Given the description of an element on the screen output the (x, y) to click on. 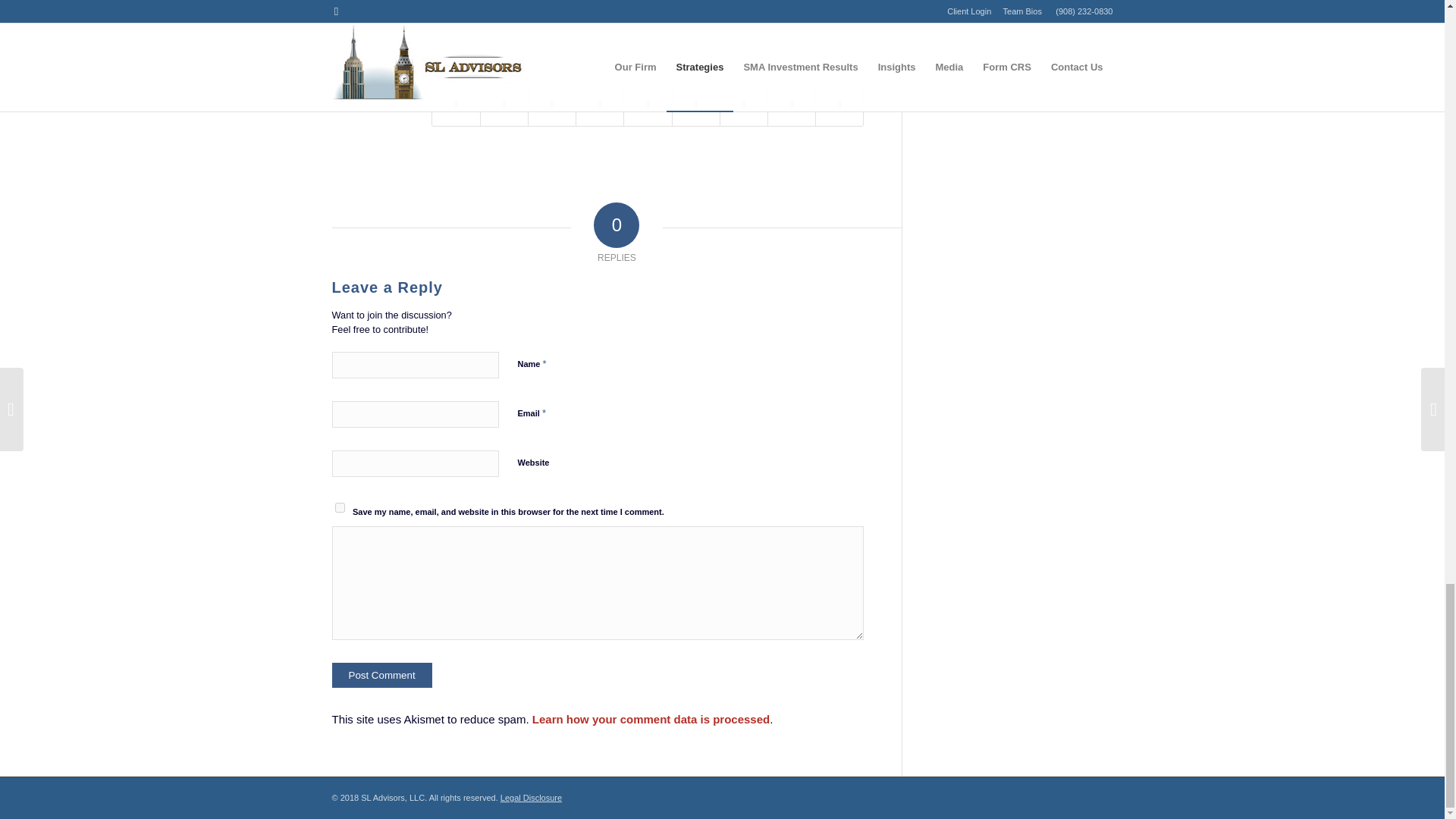
yes (339, 507)
Post Comment (381, 674)
